Given the description of an element on the screen output the (x, y) to click on. 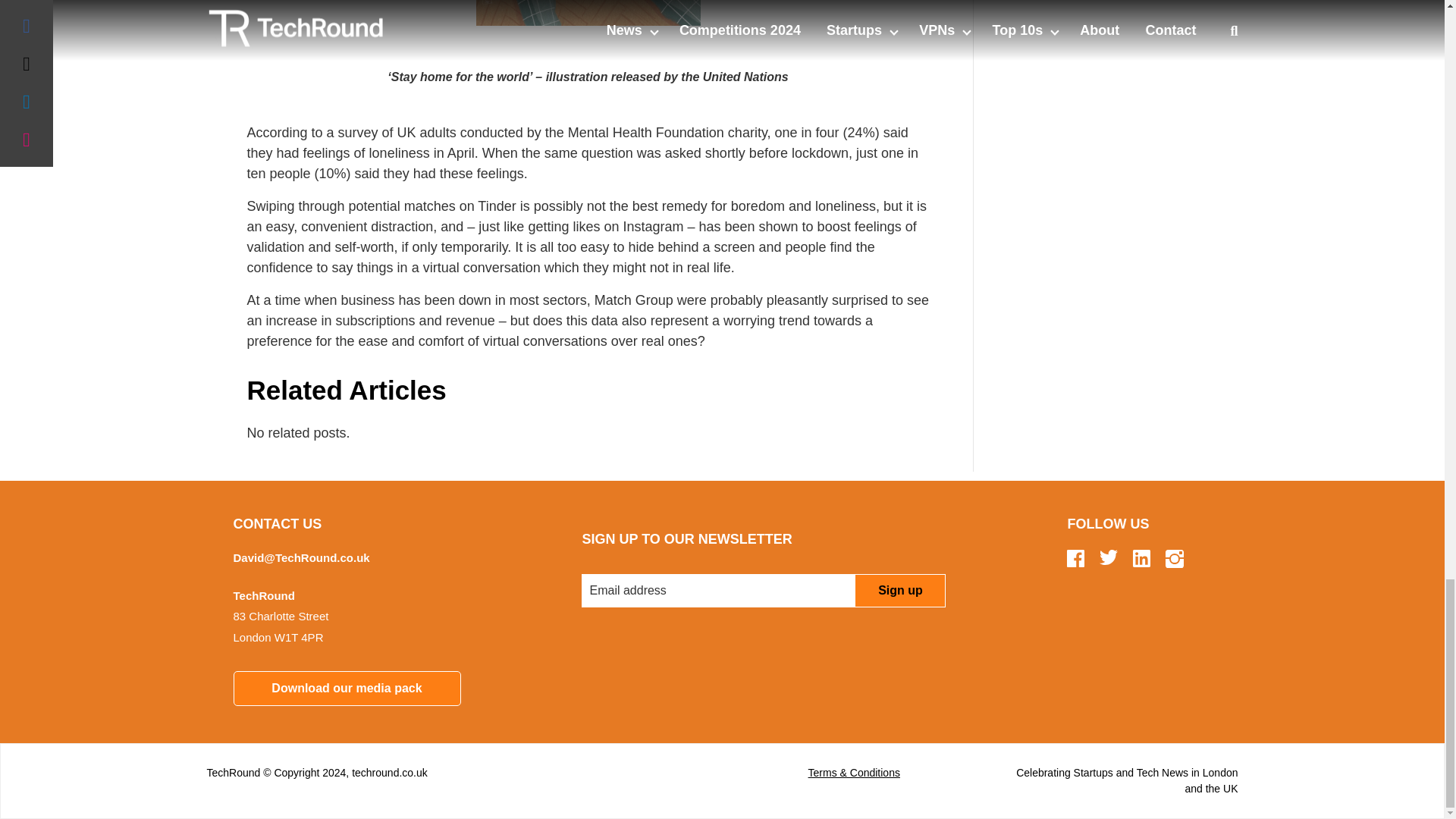
Sign up (899, 590)
